Given the description of an element on the screen output the (x, y) to click on. 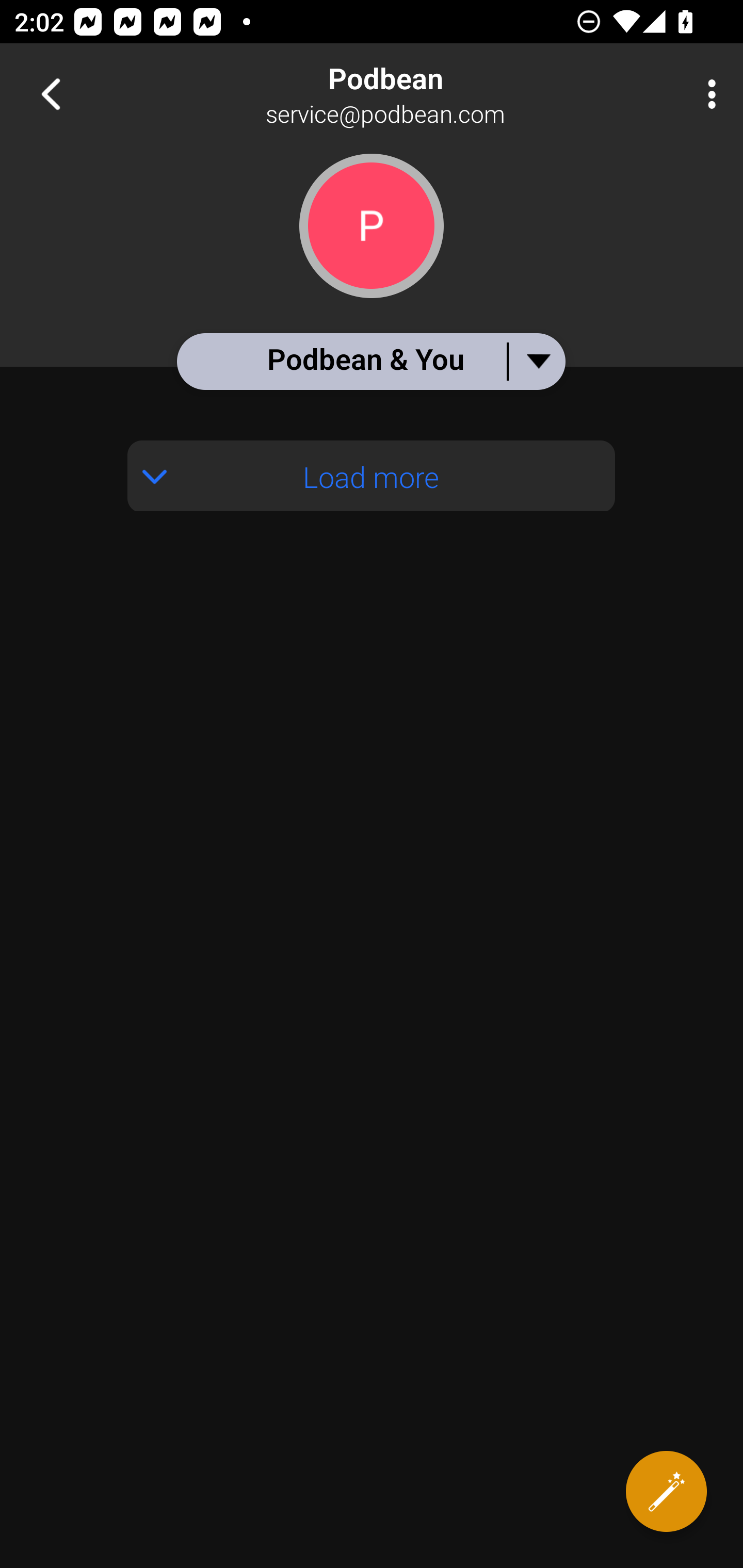
Navigate up (50, 93)
Podbean service@podbean.com (436, 93)
More Options (706, 93)
Podbean & You (370, 361)
Load more (371, 475)
